Given the description of an element on the screen output the (x, y) to click on. 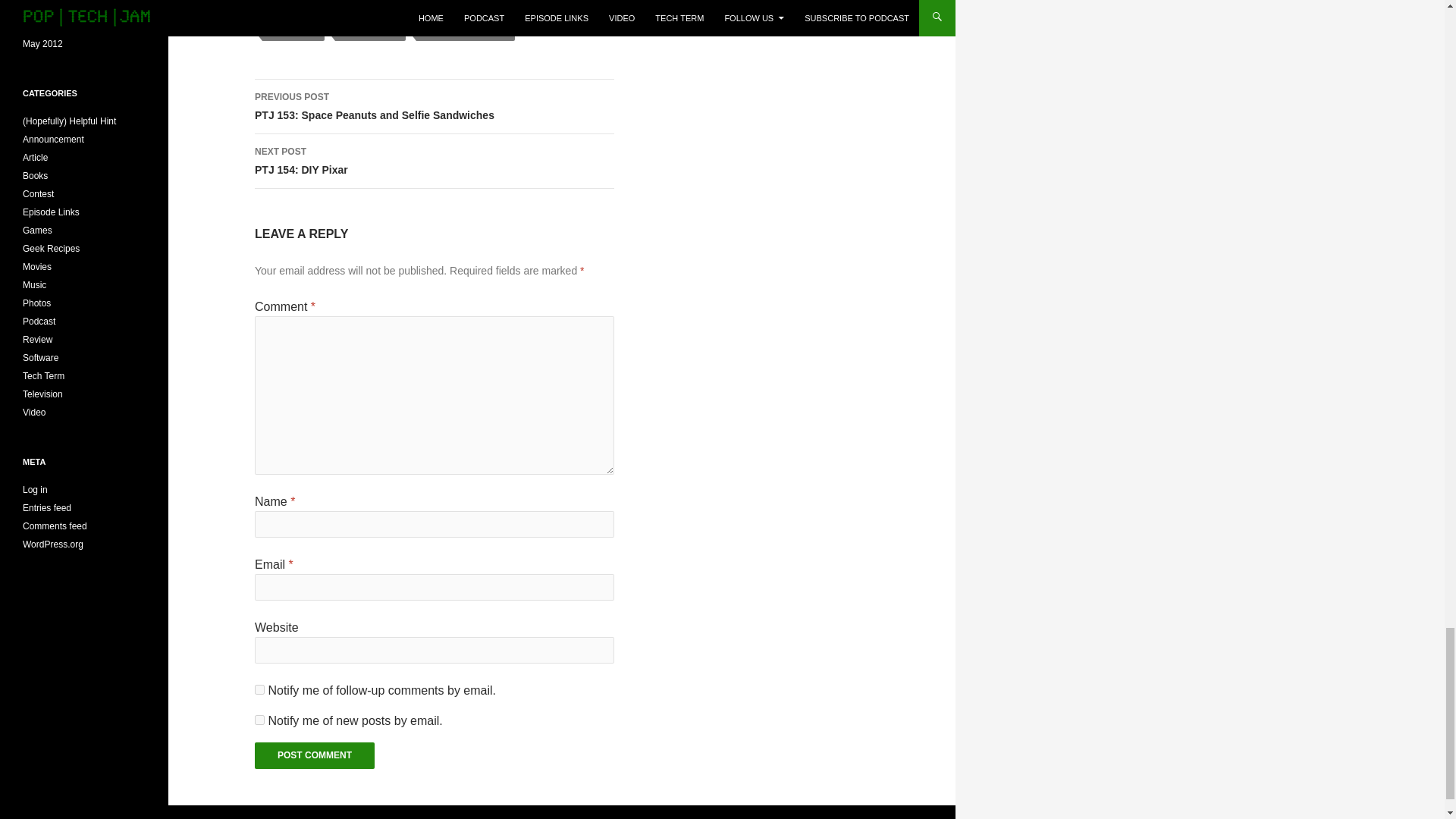
Post Comment (314, 755)
subscribe (259, 719)
subscribe (259, 689)
